Given the description of an element on the screen output the (x, y) to click on. 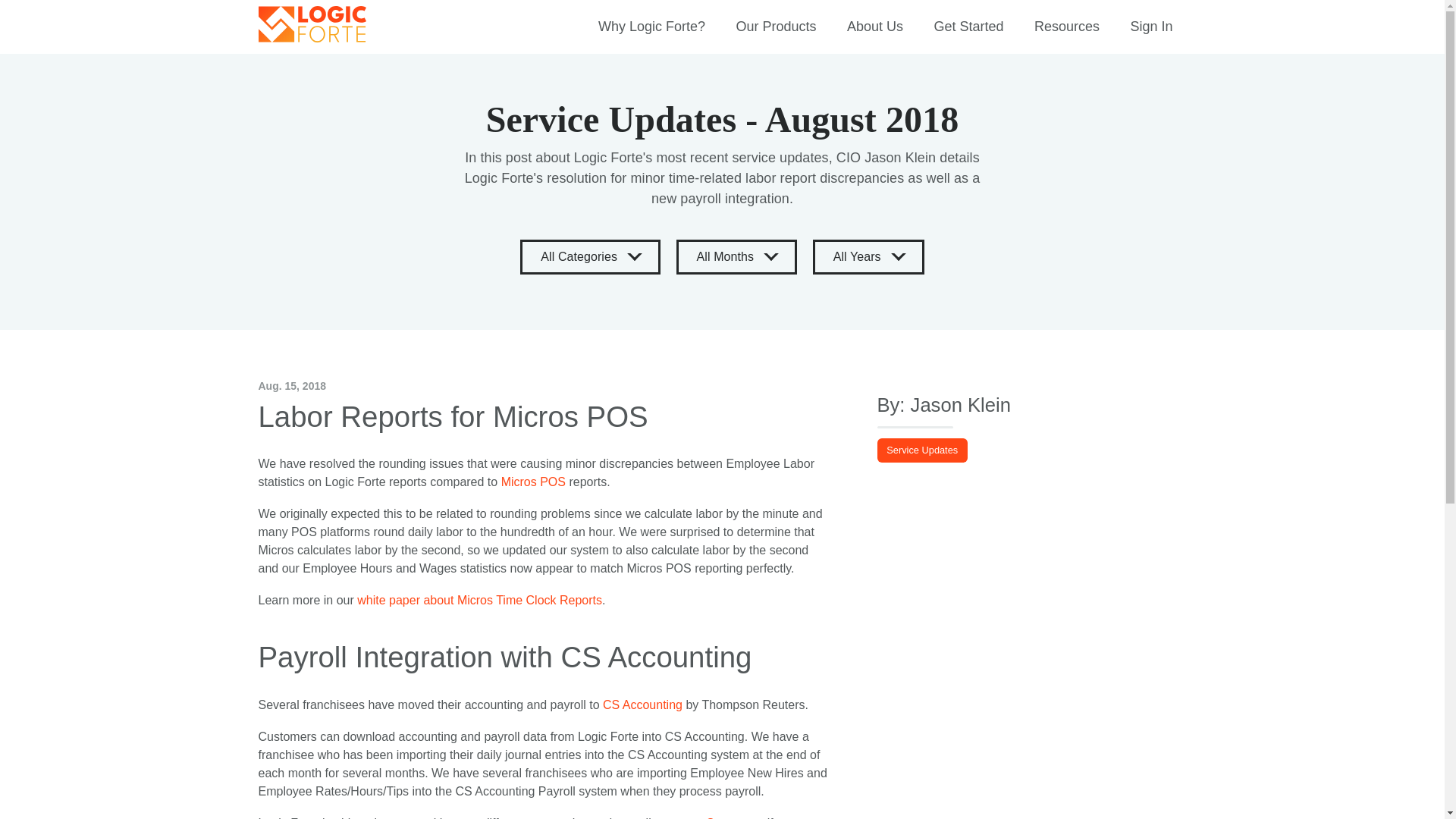
Why Logic Forte? (652, 26)
Sign In (1151, 26)
Contact us (734, 817)
None (775, 26)
None (1066, 26)
Micros POS (533, 481)
white paper about Micros Time Clock Reports (479, 599)
Resources (1066, 26)
None (652, 26)
About Us (874, 26)
